Given the description of an element on the screen output the (x, y) to click on. 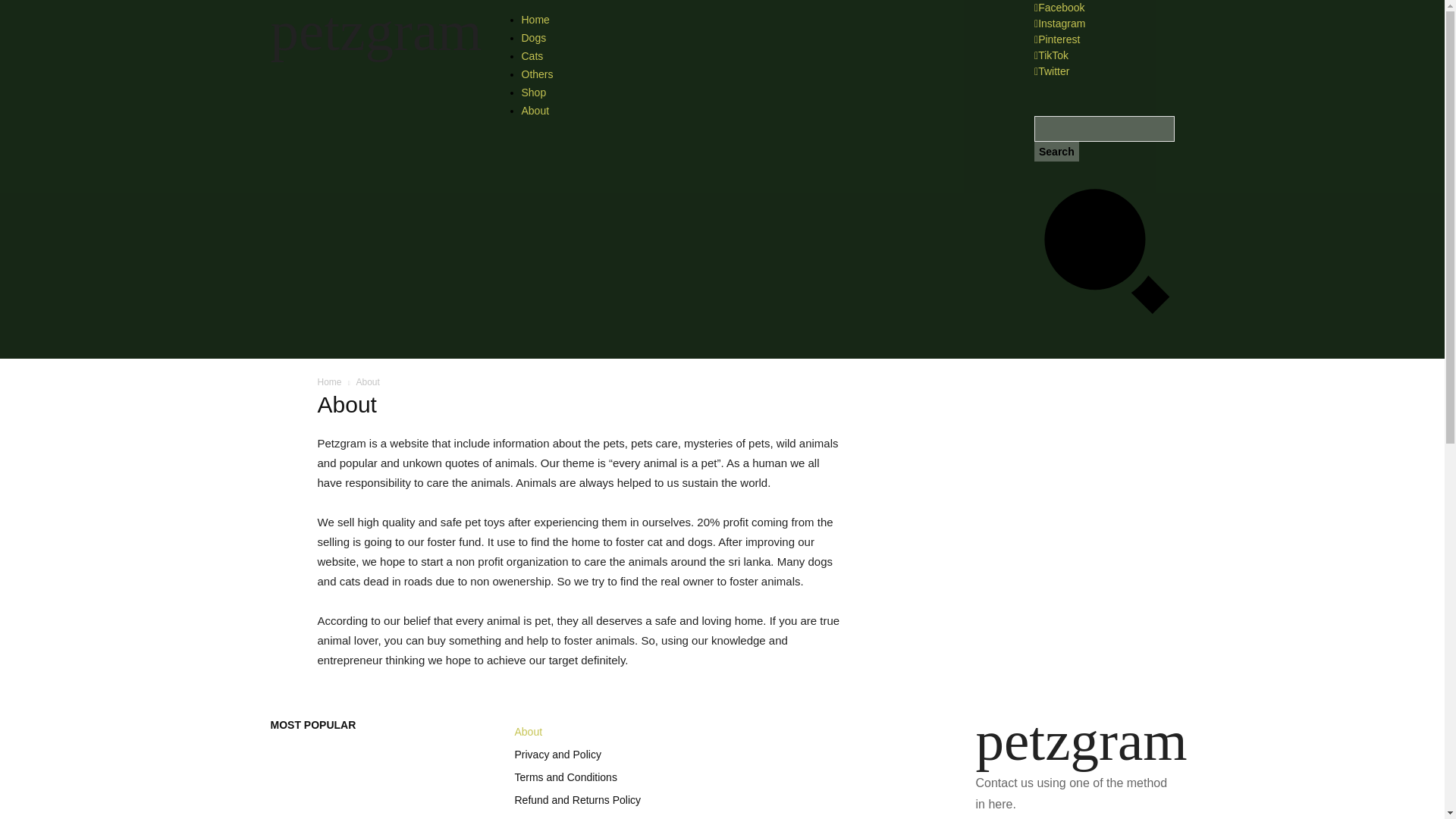
Home (759, 19)
Pinterest (1056, 39)
Twitter (1050, 70)
TikTok (1050, 55)
Facebook (1058, 7)
Shop (759, 92)
Facebook (1058, 7)
About (759, 110)
Twitter (1050, 70)
Home (328, 380)
